Given the description of an element on the screen output the (x, y) to click on. 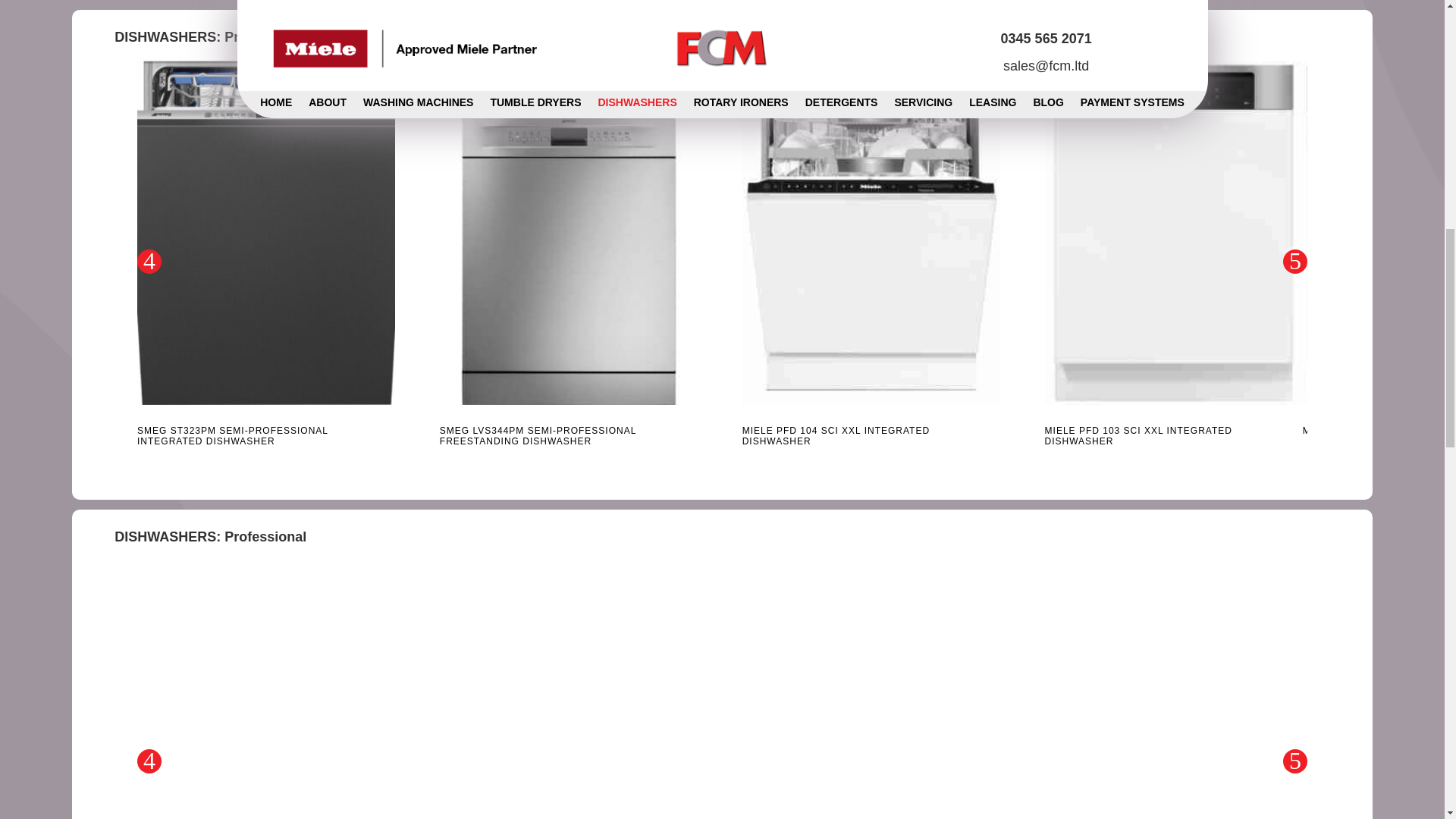
MIELE PFD 103 SCI XXL INTEGRATED DISHWASHER (1174, 436)
MIELE PFD 104 SCI XXL INTEGRATED DISHWASHER (871, 436)
SMEG ST323PM SEMI-PROFESSIONAL INTEGRATED DISHWASHER (265, 436)
SMEG LVS344PM SEMI-PROFESSIONAL FREESTANDING DISHWASHER (568, 436)
